Given the description of an element on the screen output the (x, y) to click on. 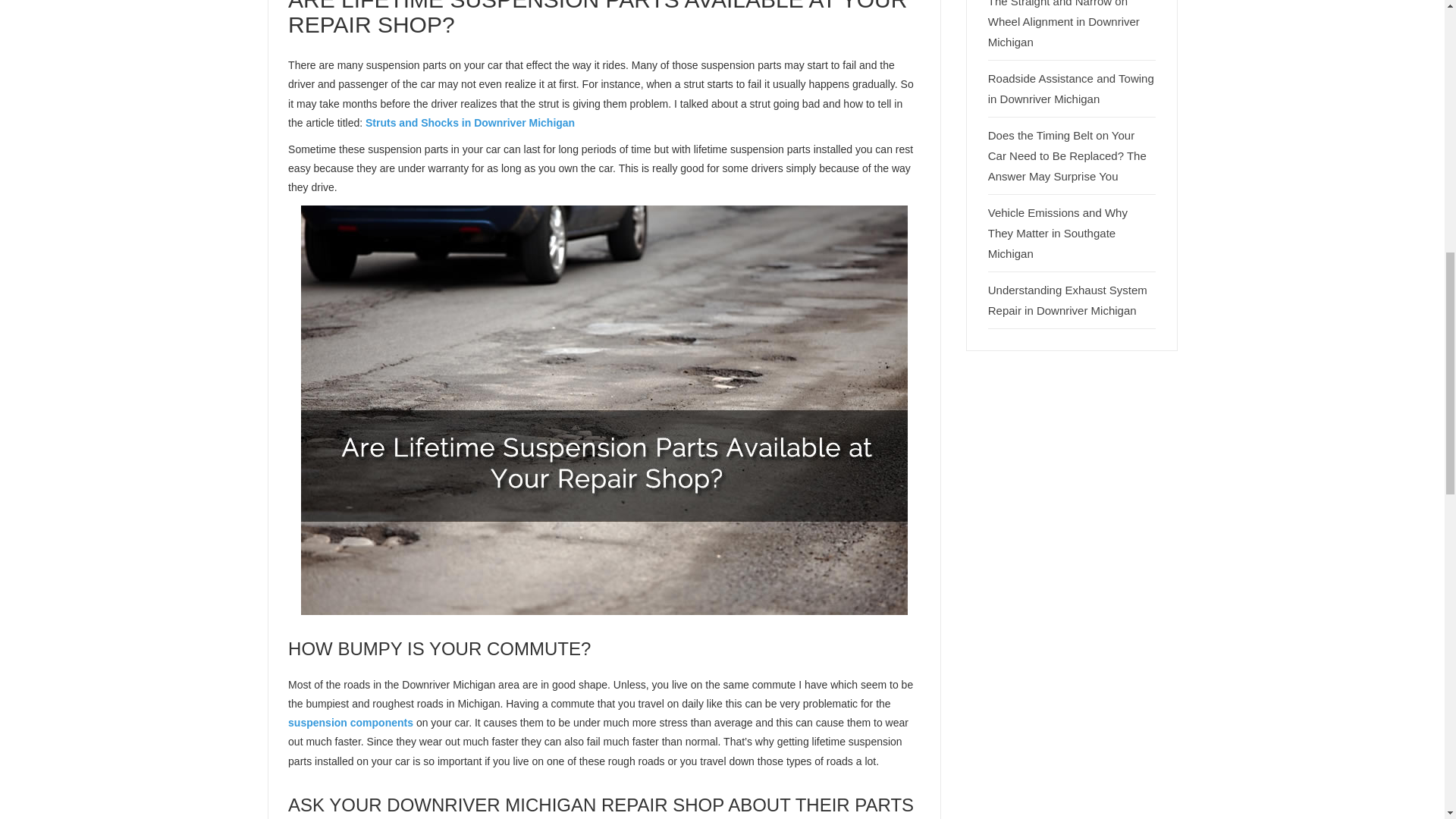
Vehicle Emissions and Why They Matter in Southgate Michigan (1057, 233)
Understanding Exhaust System Repair in Downriver Michigan (1067, 299)
suspension components (350, 722)
Struts and Shocks in Downriver Michigan (470, 122)
Roadside Assistance and Towing in Downriver Michigan (1071, 88)
